Given the description of an element on the screen output the (x, y) to click on. 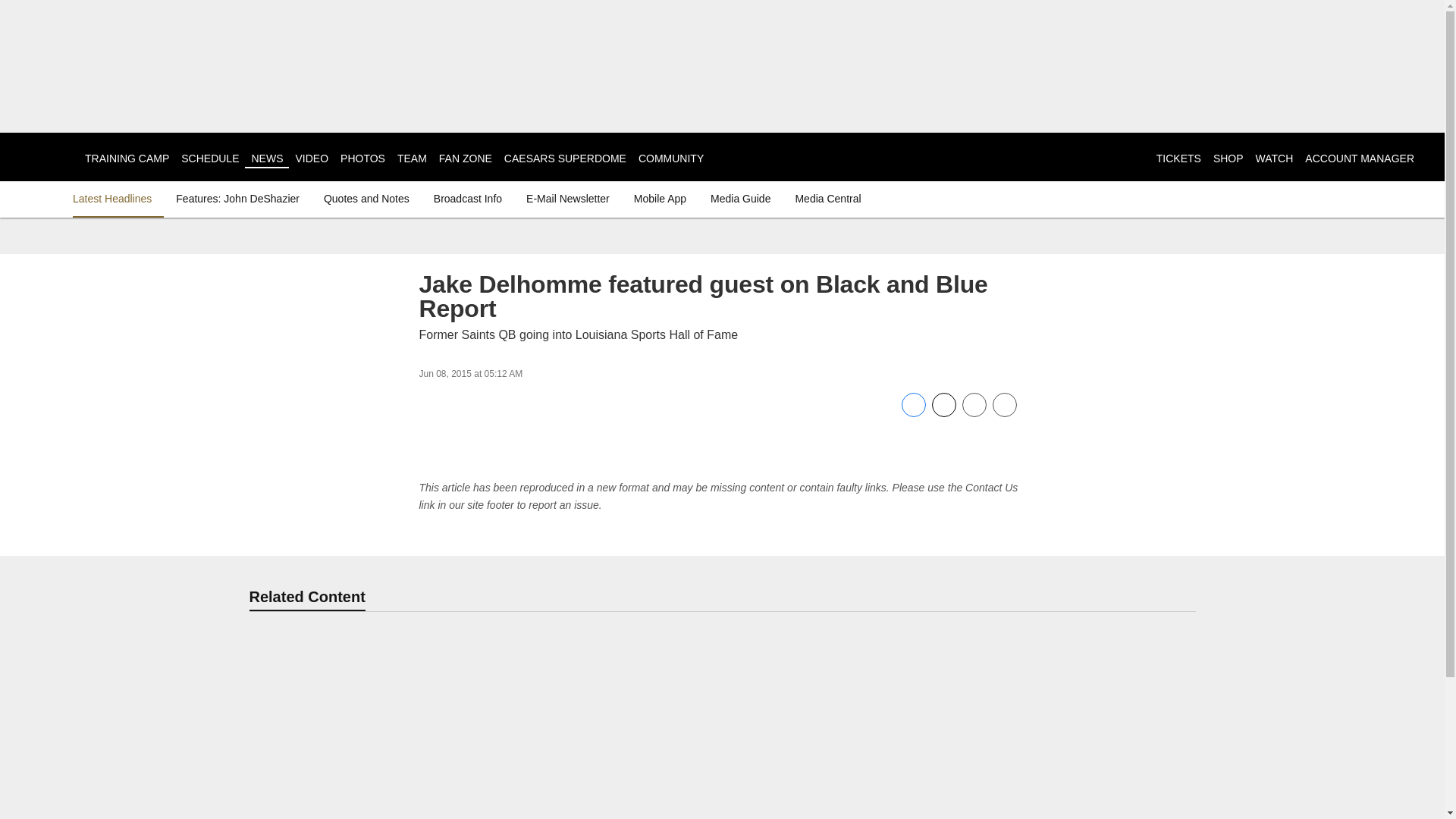
FAN ZONE (465, 158)
Media Guide (740, 198)
E-Mail Newsletter (567, 198)
Media Central (827, 198)
ACCOUNT MANAGER (1358, 158)
SCHEDULE (209, 158)
Link to club's homepage (42, 156)
VIDEO (312, 158)
PHOTOS (362, 158)
NEWS (266, 158)
FAN ZONE (465, 158)
TRAINING CAMP (126, 158)
COMMUNITY (671, 158)
TICKETS (1178, 158)
Broadcast Info (468, 198)
